Given the description of an element on the screen output the (x, y) to click on. 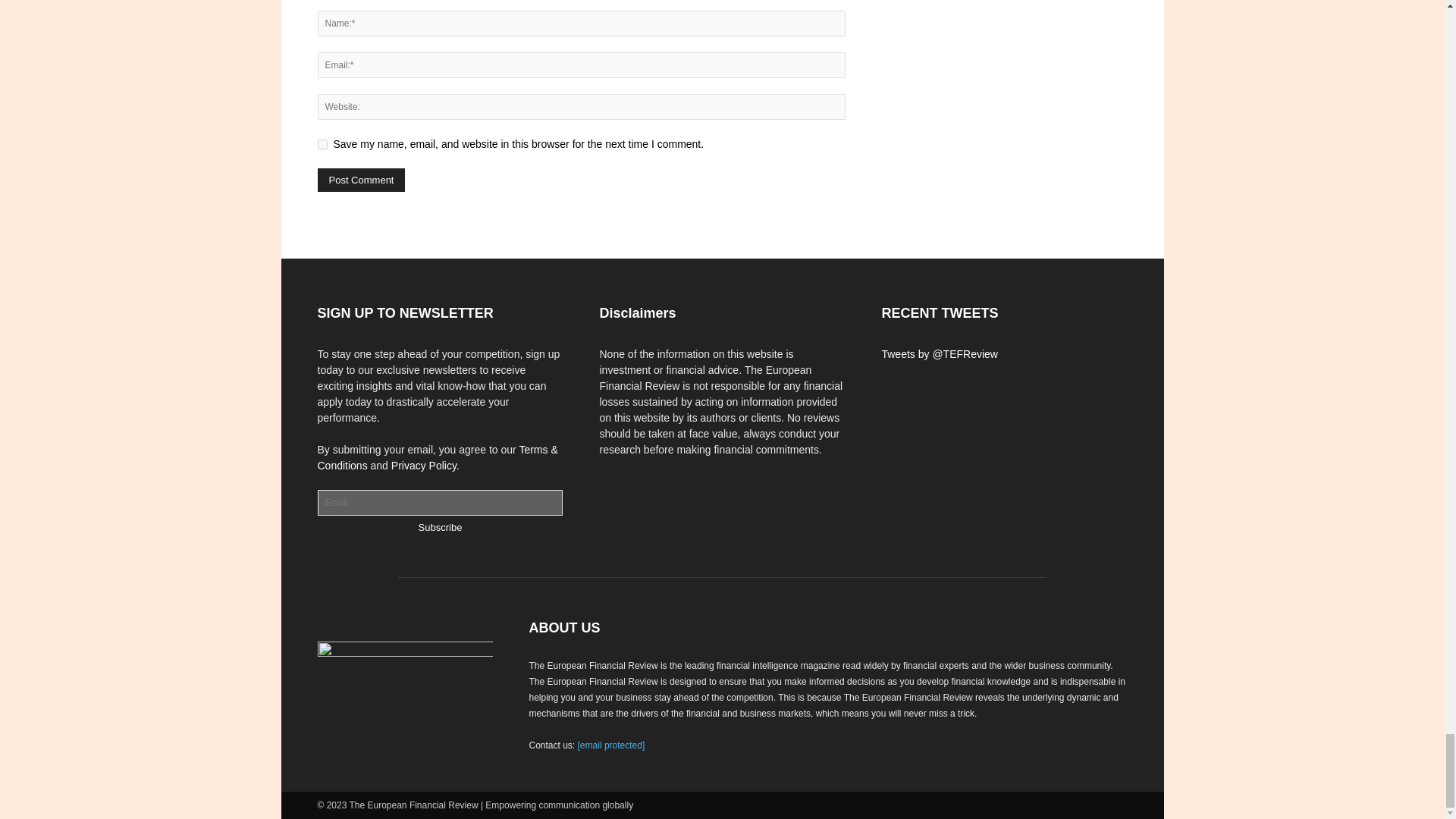
Subscribe (440, 526)
Post Comment (360, 179)
yes (321, 144)
